Given the description of an element on the screen output the (x, y) to click on. 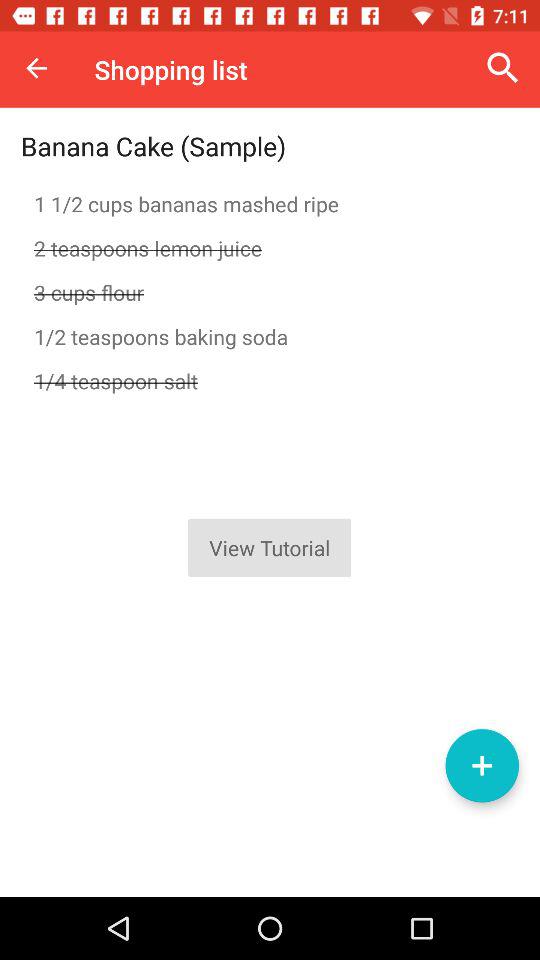
add a list (482, 765)
